Given the description of an element on the screen output the (x, y) to click on. 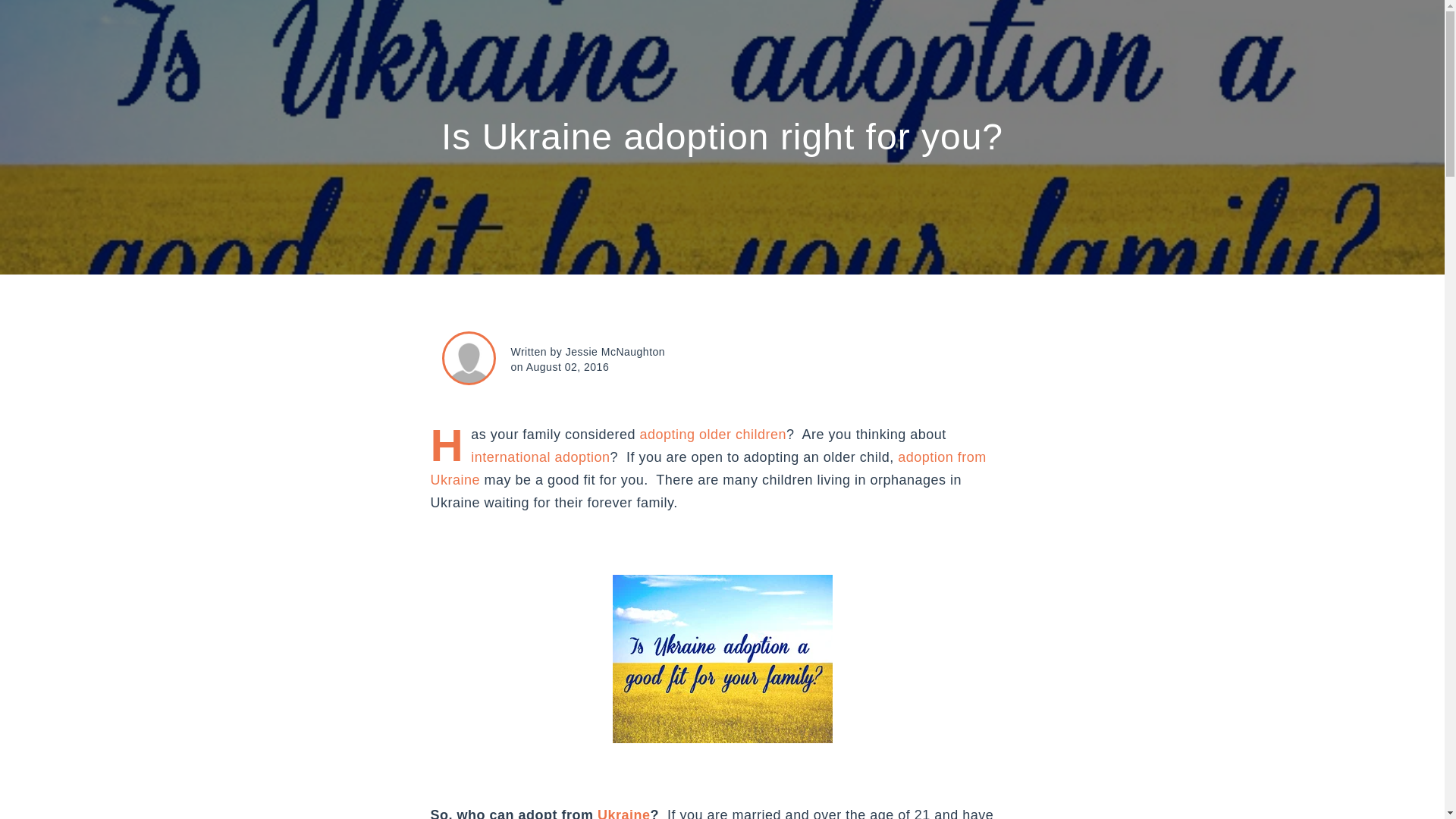
Is Ukraine adoption right for you? (722, 137)
